Given the description of an element on the screen output the (x, y) to click on. 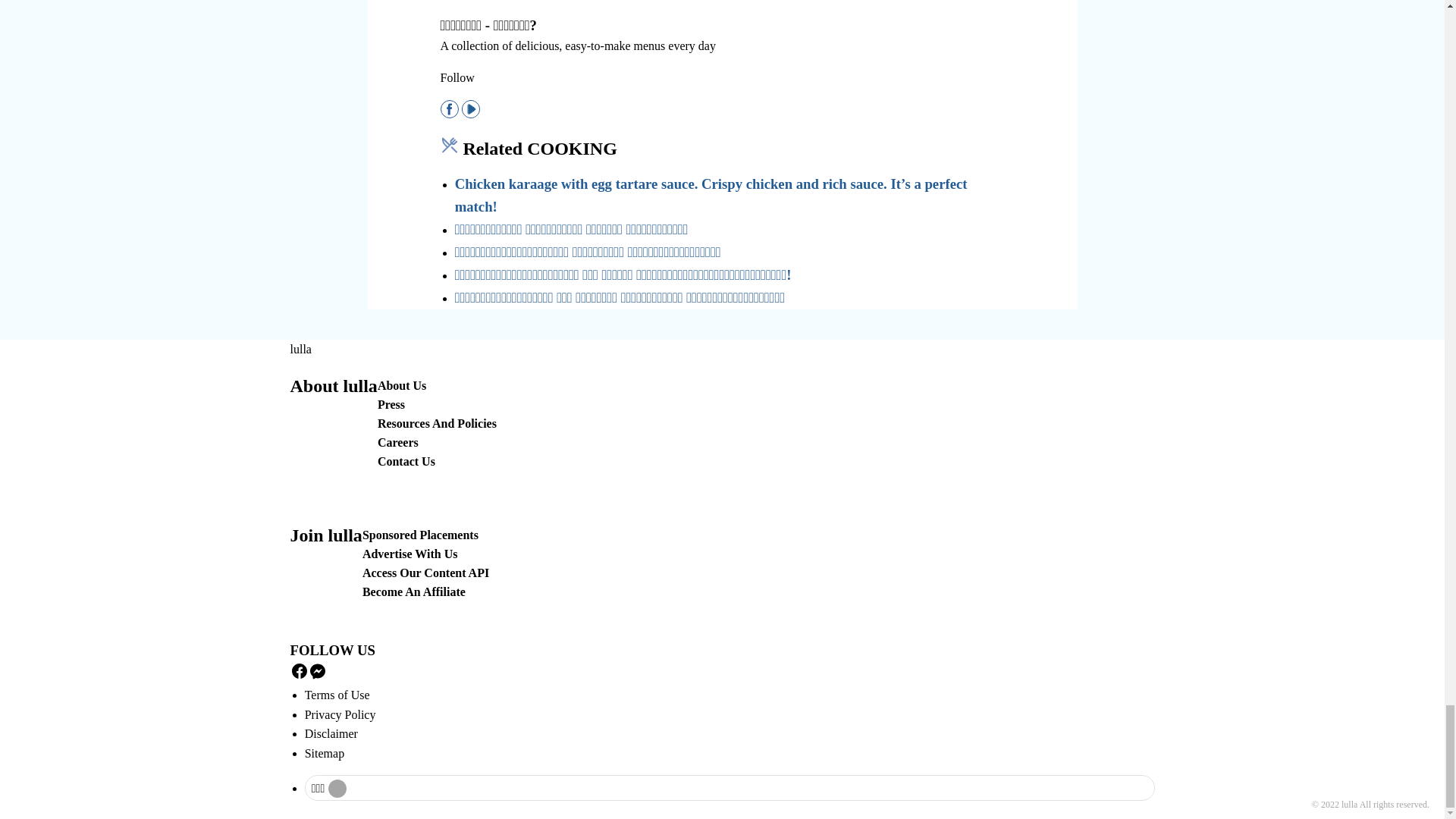
Press (390, 404)
Sponsored Placements (420, 534)
Resources And Policies (436, 422)
Careers (398, 441)
Contact Us (406, 461)
lulla (300, 349)
About Us (401, 385)
